Given the description of an element on the screen output the (x, y) to click on. 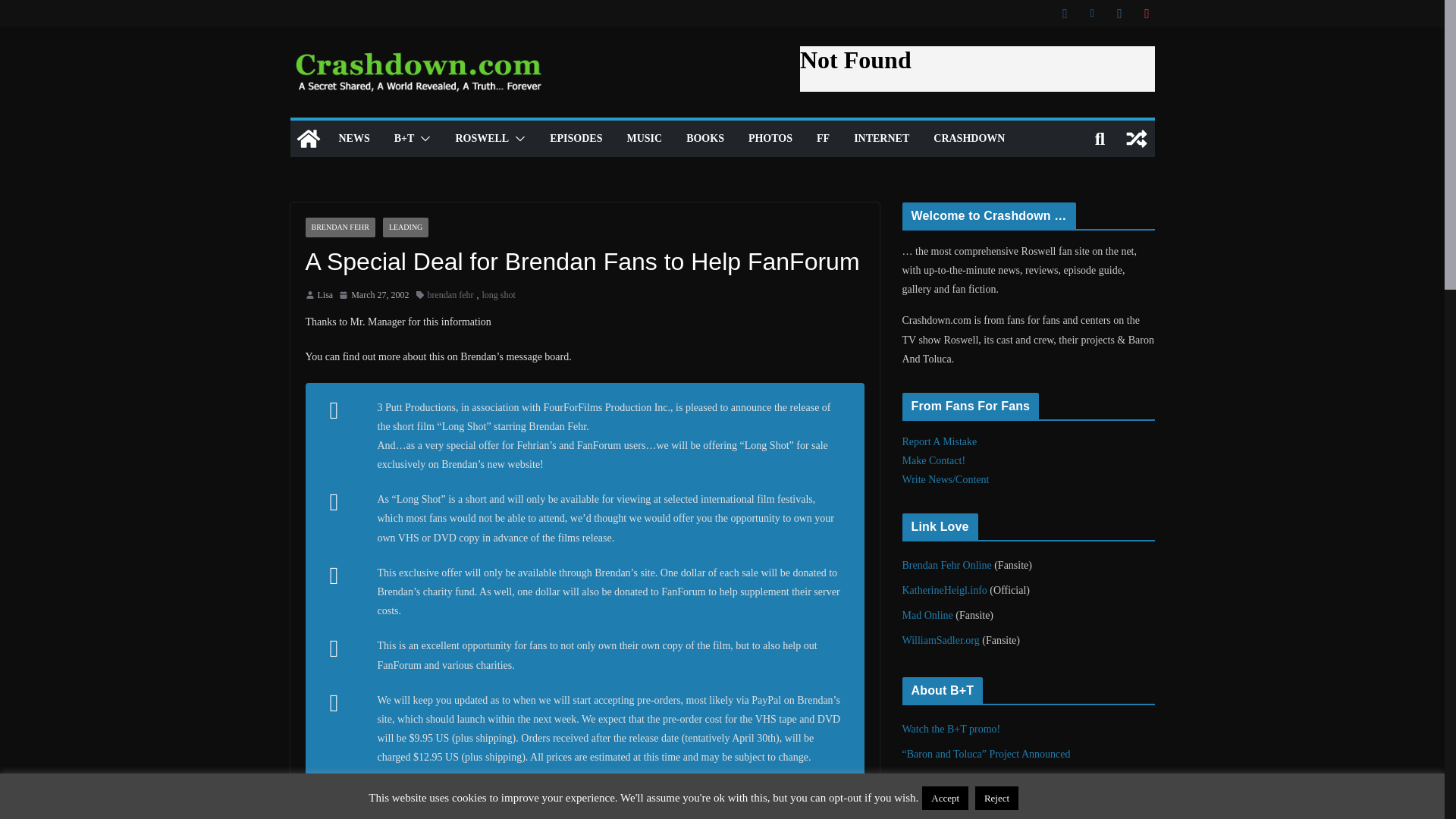
brendan fehr (451, 295)
Report A Mistake (939, 441)
Lisa (325, 295)
BRENDAN FEHR (339, 227)
long shot (498, 295)
INTERNET (880, 138)
Advertisement (976, 68)
ROSWELL (481, 138)
NEWS (353, 138)
March 27, 2002 (374, 295)
